Given the description of an element on the screen output the (x, y) to click on. 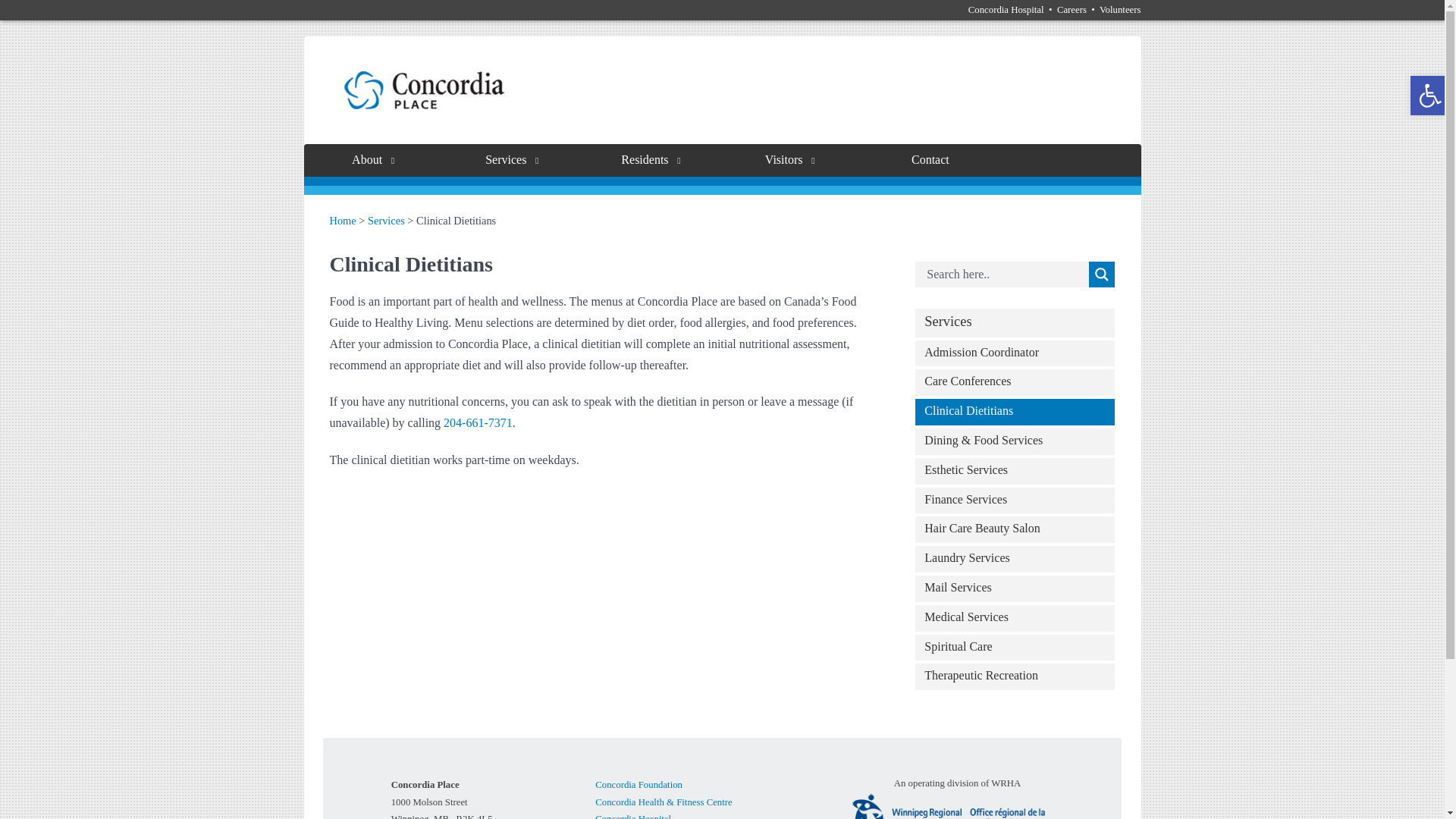
Concordia Hospital (1005, 9)
Concordia Hospital is an operating division of WRHA (956, 805)
Volunteers (1120, 9)
About (373, 160)
Go to Concordia Place. (342, 220)
Go to Services. (386, 220)
Careers (1071, 9)
Residents (652, 160)
Services (512, 160)
Accessibility Tools (1430, 95)
Concordia Place (423, 90)
